Given the description of an element on the screen output the (x, y) to click on. 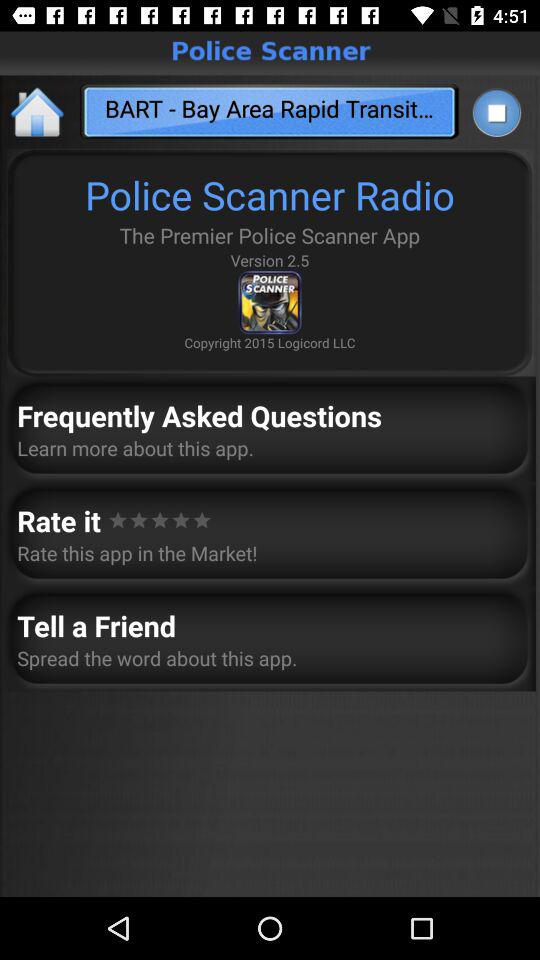
press the app above police scanner radio icon (496, 111)
